Given the description of an element on the screen output the (x, y) to click on. 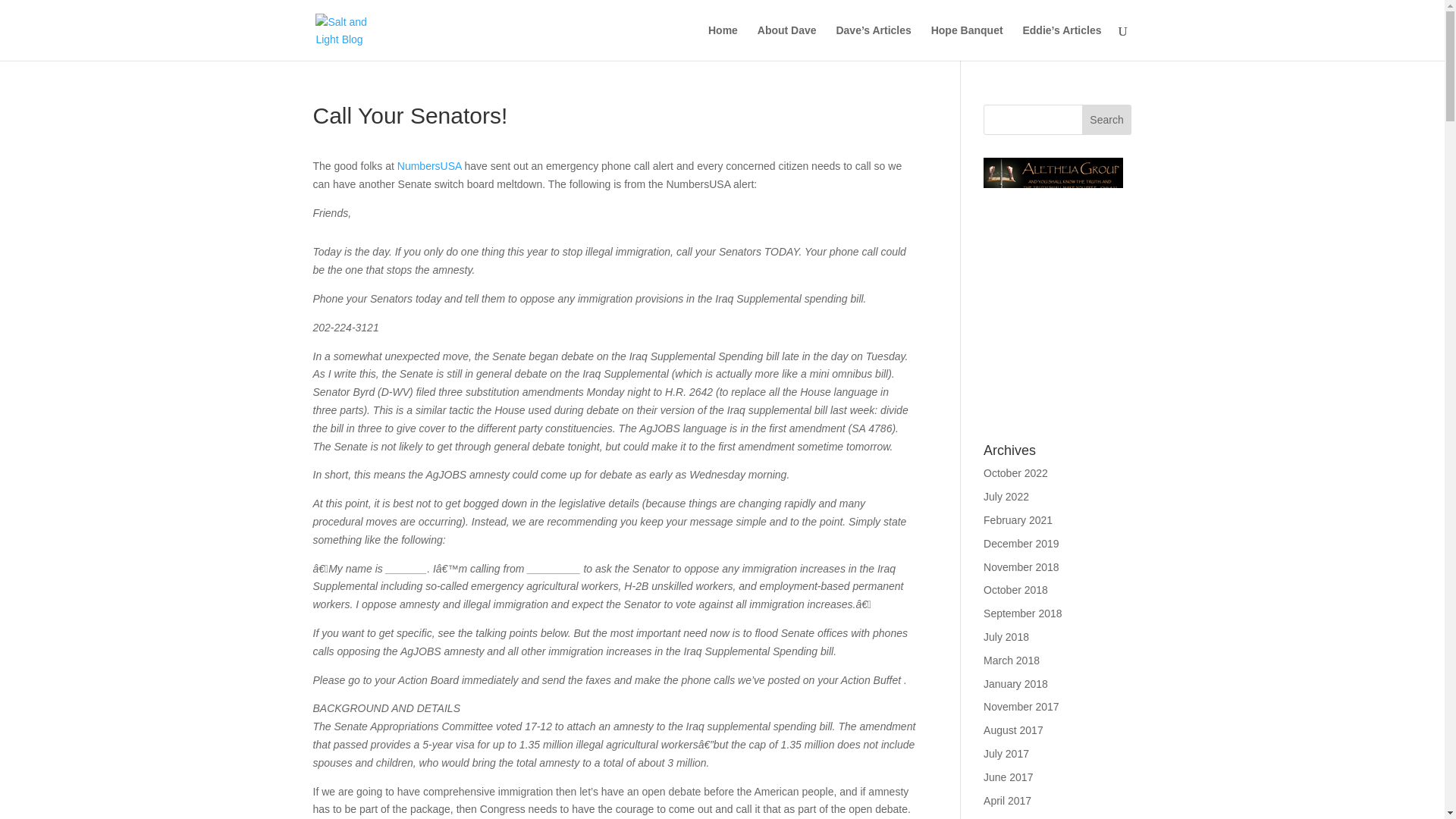
September 2018 (1023, 613)
August 2017 (1013, 729)
January 2018 (1016, 684)
July 2018 (1006, 636)
March 2017 (1011, 818)
June 2017 (1008, 776)
December 2019 (1021, 543)
Search (1106, 119)
March 2018 (1011, 660)
April 2017 (1007, 800)
